Given the description of an element on the screen output the (x, y) to click on. 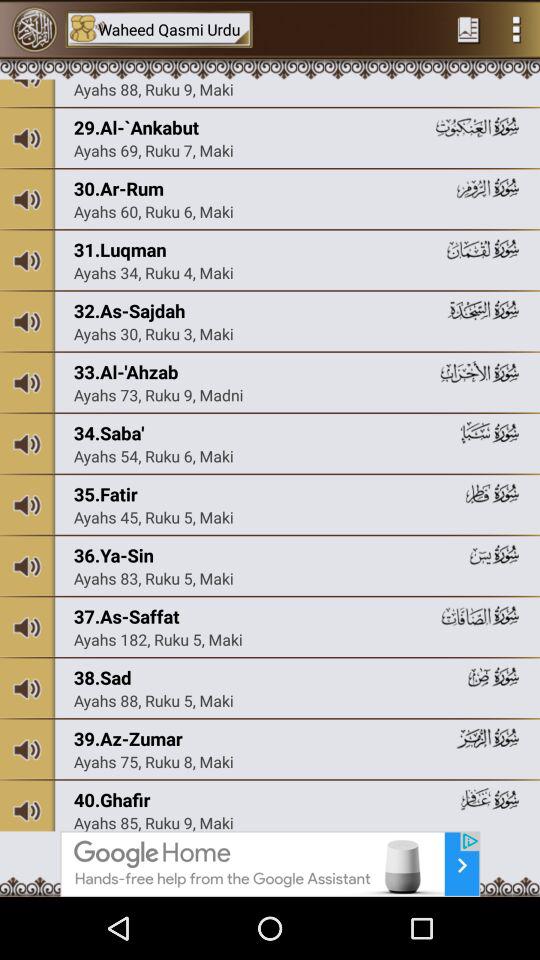
go to the preferites (468, 29)
